Given the description of an element on the screen output the (x, y) to click on. 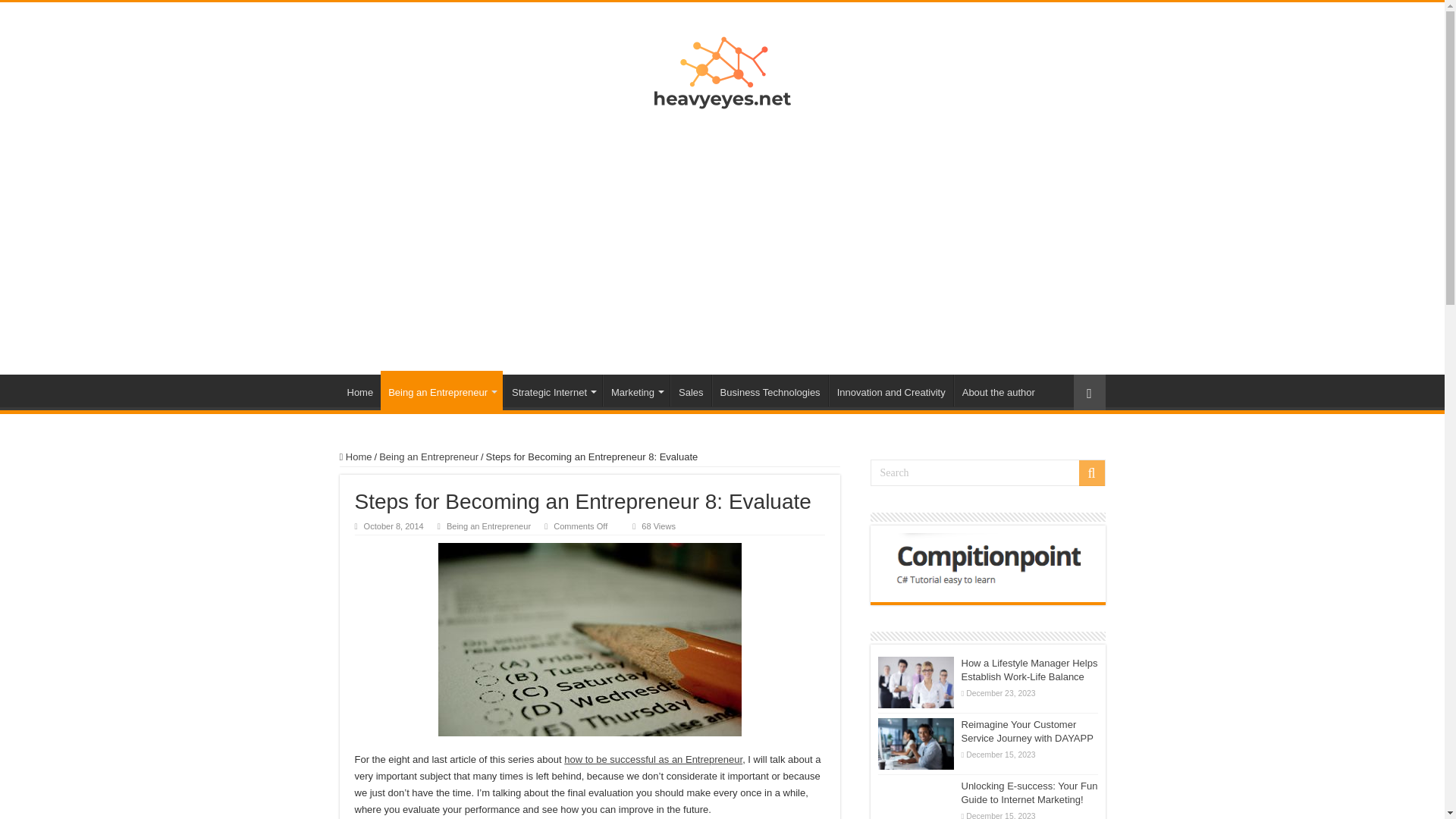
Home (360, 390)
Being an Entrepreneur (488, 525)
Business Technologies (769, 390)
how to be successful as an Entrepreneur (653, 758)
Strategic Internet (552, 390)
Innovation and Creativity (890, 390)
About the author (997, 390)
Search (987, 472)
Being an Entrepreneur (428, 456)
Being an Entrepreneur (441, 390)
Sales (690, 390)
Home (355, 456)
Marketing (635, 390)
